Given the description of an element on the screen output the (x, y) to click on. 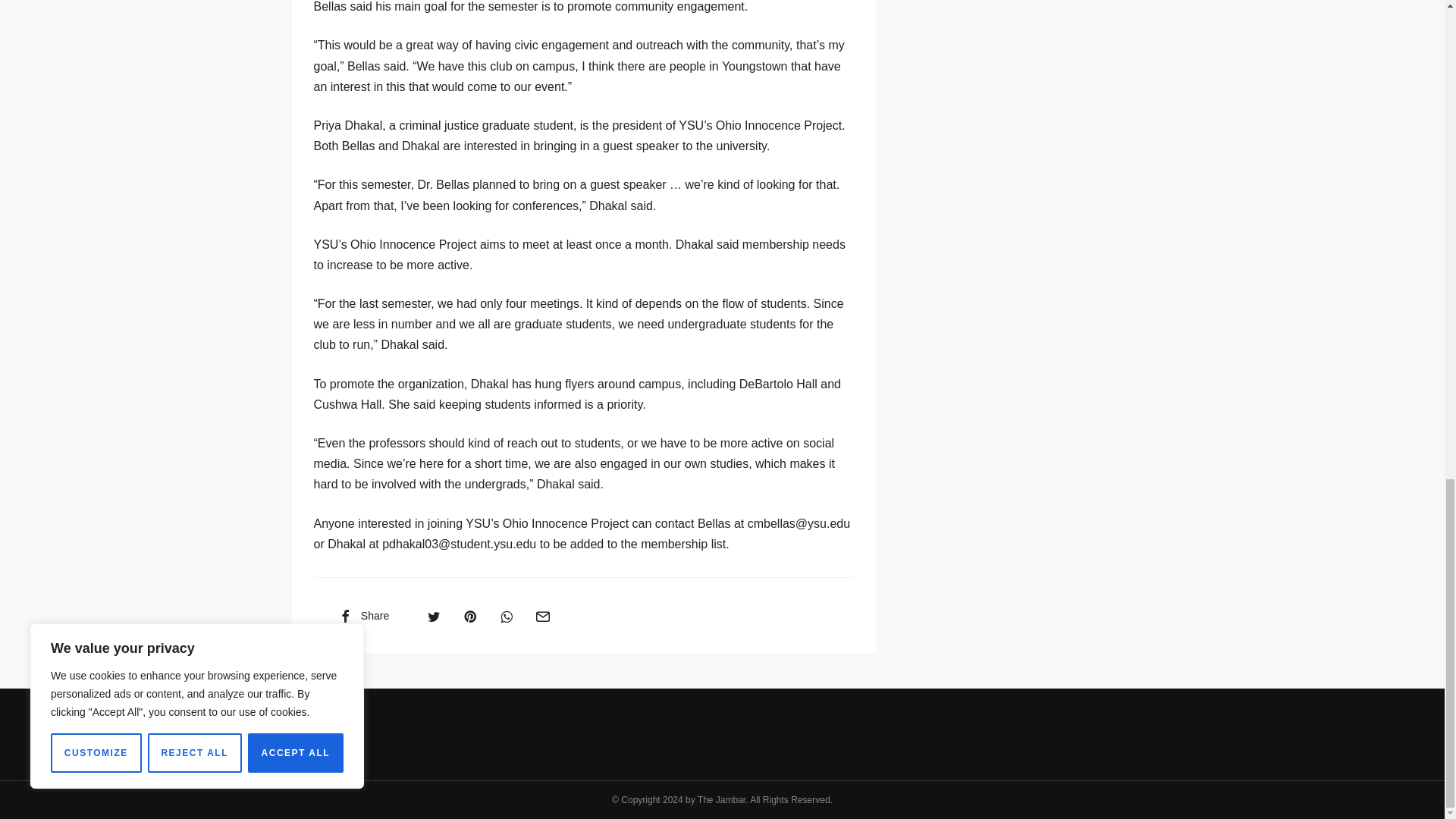
Pin this Post (469, 615)
Share via Email (542, 615)
Share on Twitter (433, 615)
Share on Whatsapp (506, 615)
Share on Facebook (363, 615)
